Given the description of an element on the screen output the (x, y) to click on. 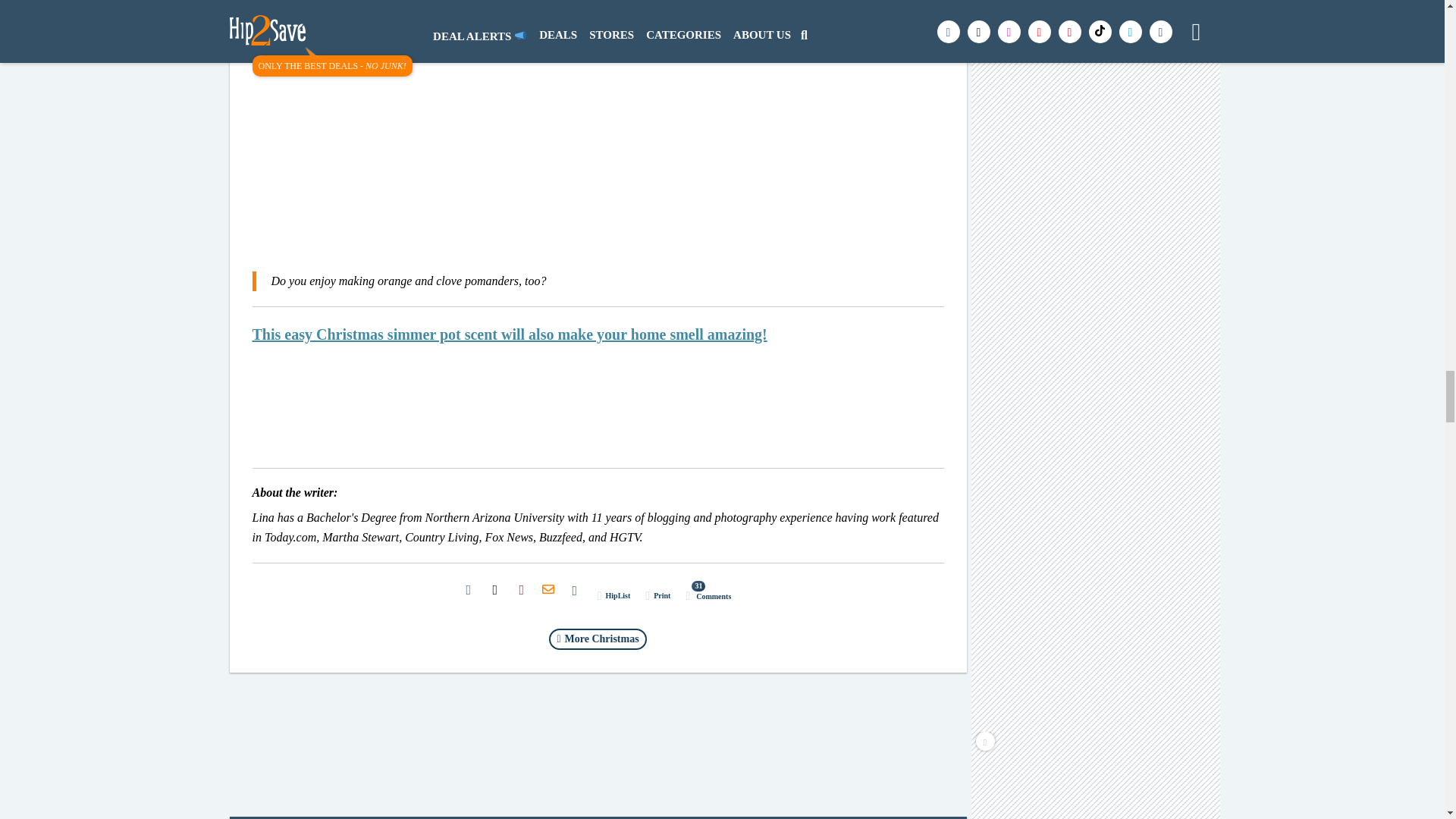
Click to share on SMS (574, 589)
Click to share on H2S Email (547, 590)
